Given the description of an element on the screen output the (x, y) to click on. 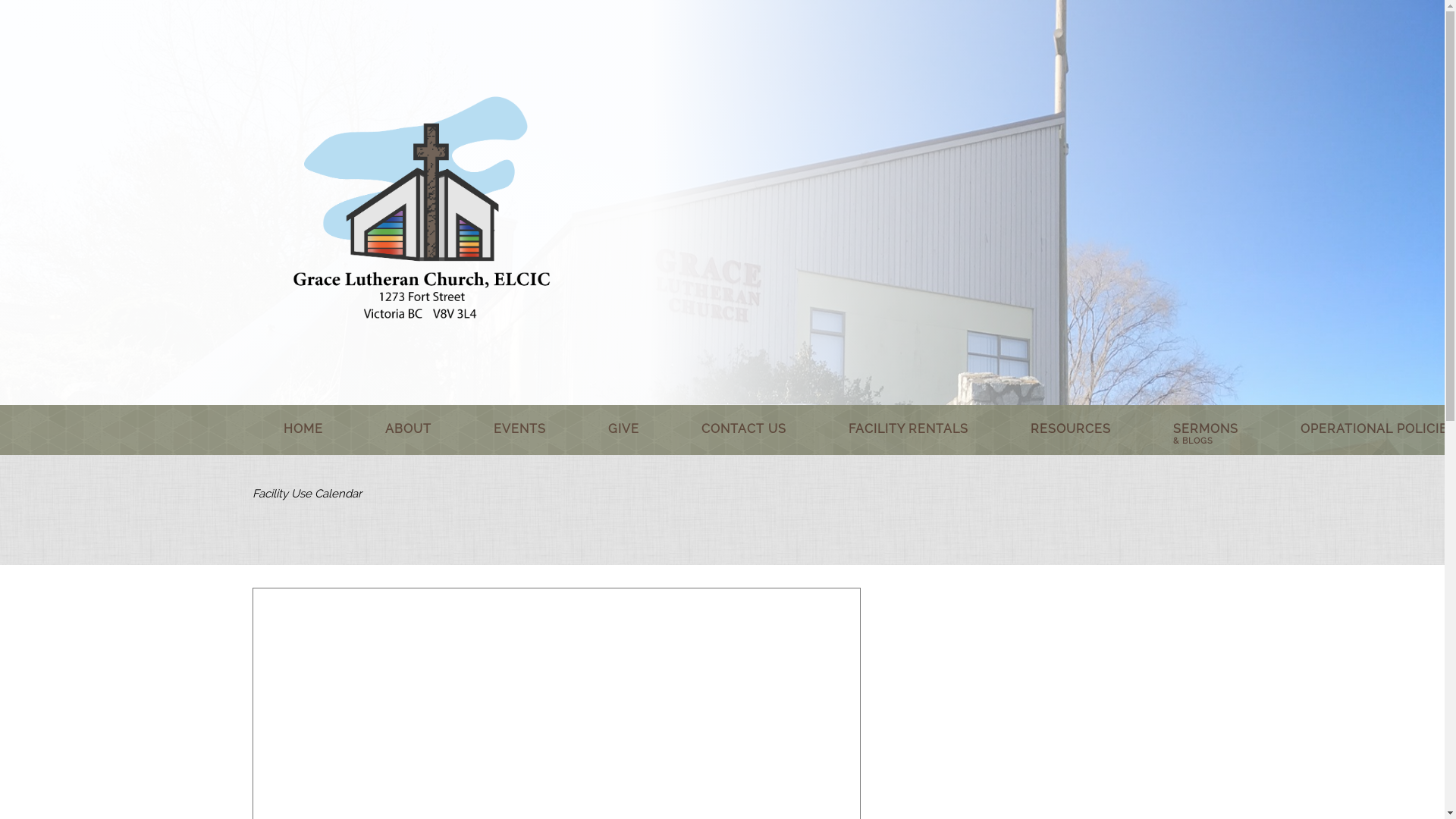
ABOUT (407, 429)
Give (622, 429)
Events (519, 429)
FACILITY RENTALS (907, 429)
GIVE (622, 429)
Go to site home page (421, 200)
Facility Rentals (907, 429)
RESOURCES (1069, 429)
EVENTS (519, 429)
Additional Resources (1069, 429)
HOME (302, 429)
Contact Us (742, 429)
ABOUT (407, 429)
CONTACT US (742, 429)
Home (302, 429)
